Given the description of an element on the screen output the (x, y) to click on. 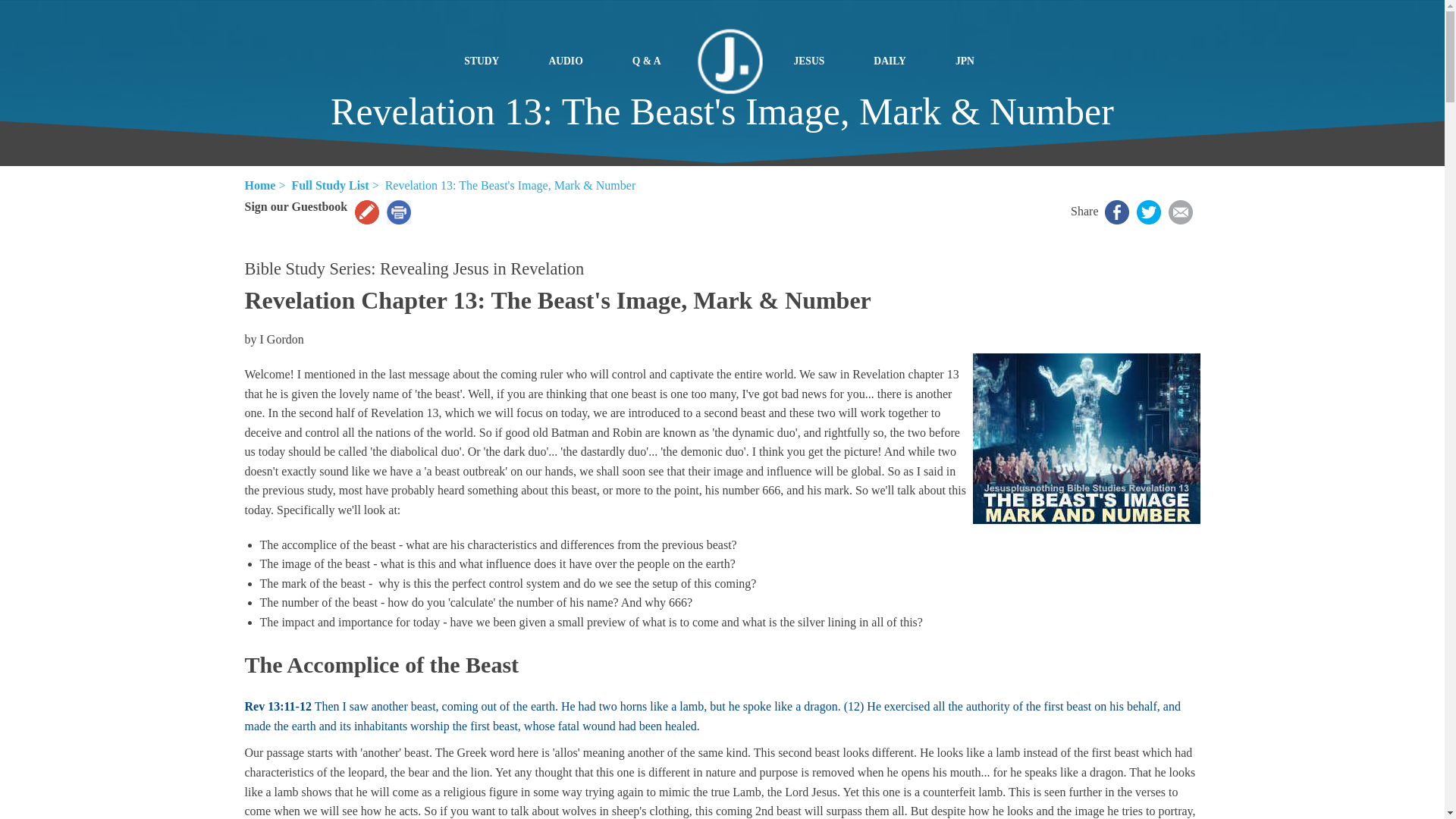
Sign our Guestbook (295, 205)
Share on Twitter (1147, 211)
DAILY (896, 61)
Home (259, 185)
Share on Facebook (1115, 211)
JESUS (815, 61)
Full Study List (329, 185)
JPN (971, 61)
AUDIO (570, 61)
Email (1179, 211)
Print this page (398, 211)
STUDY (487, 61)
